Given the description of an element on the screen output the (x, y) to click on. 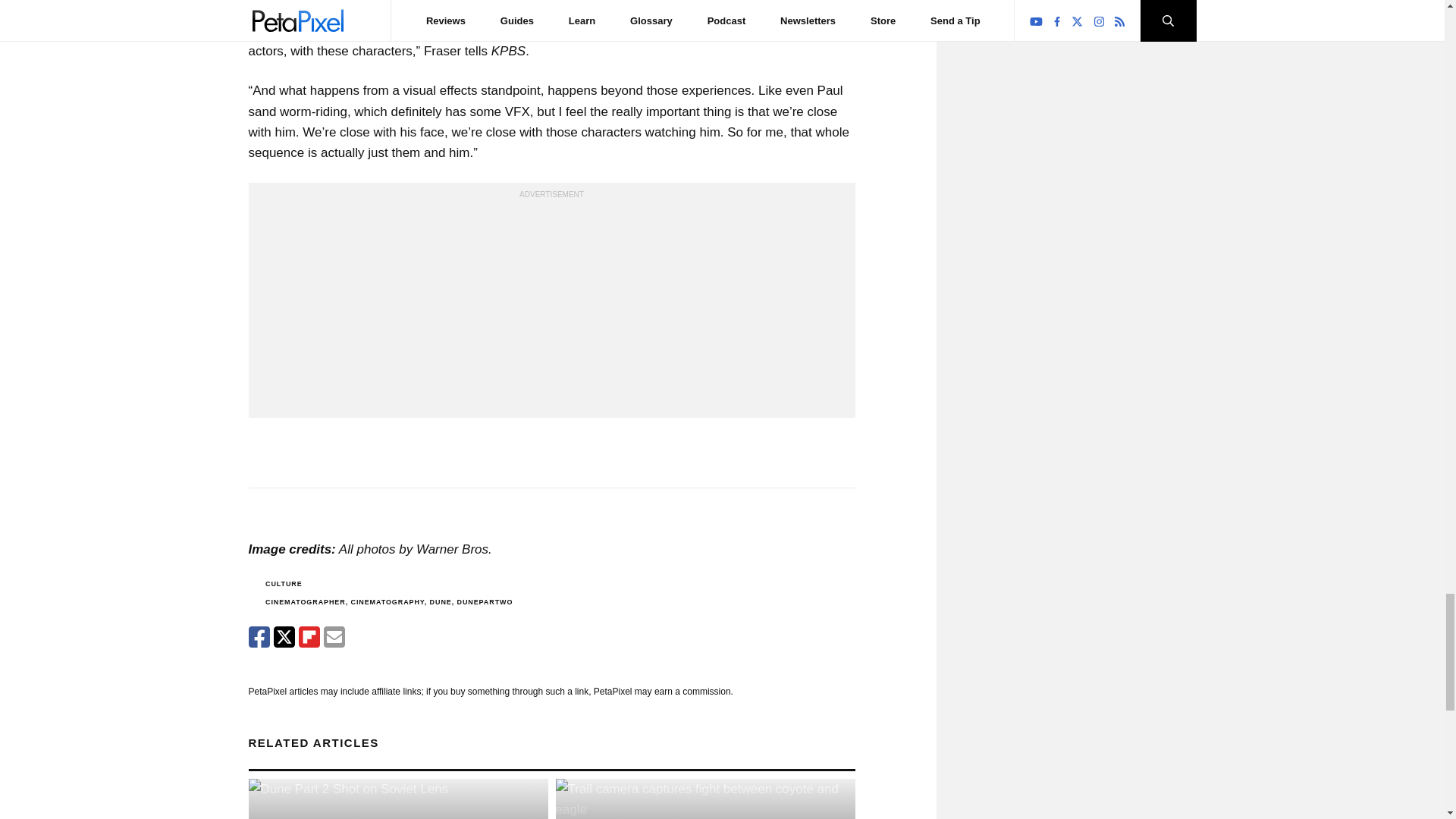
Share on Flipboard (309, 636)
CINEMATOGRAPHY (386, 602)
CINEMATOGRAPHER (305, 602)
Email this article (333, 636)
Share on X (283, 636)
DUNE (440, 602)
Epic Trail Cam Photos Shows Fight Between Eagles and Coyote (704, 798)
CULTURE (283, 583)
DUNEPARTWO (484, 602)
Share on facebook (258, 636)
